Given the description of an element on the screen output the (x, y) to click on. 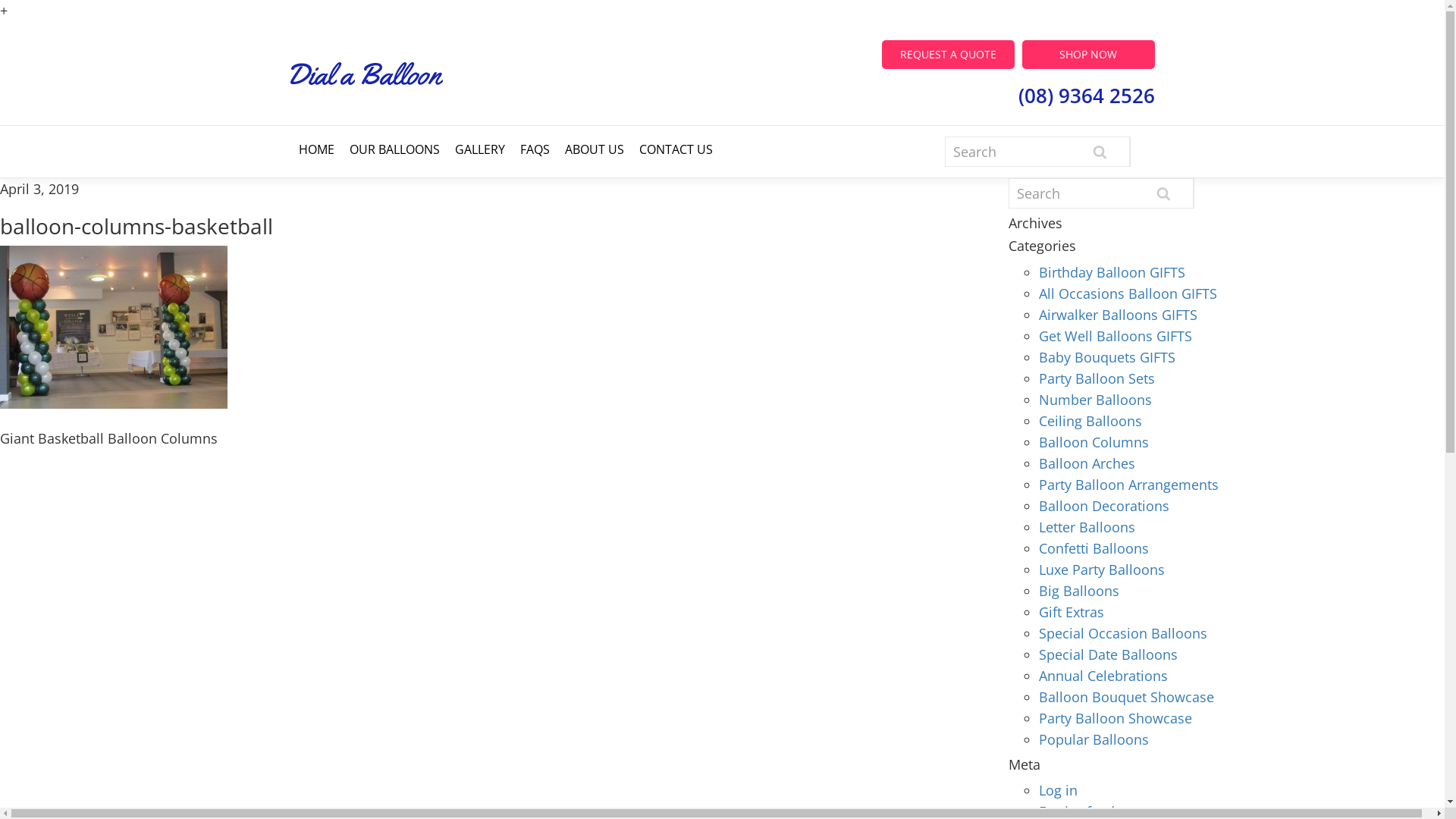
Airwalker Balloons GIFTS Element type: text (1117, 314)
Special Occasion Balloons Element type: text (1122, 633)
Ceiling Balloons Element type: text (1090, 420)
GALLERY Element type: text (479, 149)
SHOP NOW Element type: text (1088, 54)
REQUEST A QUOTE Element type: text (947, 50)
FAQS Element type: text (534, 149)
Log in Element type: text (1057, 790)
SHOP NOW Element type: text (1088, 50)
CONTACT US Element type: text (674, 149)
Annual Celebrations Element type: text (1102, 675)
Gift Extras Element type: text (1071, 611)
Special Date Balloons Element type: text (1107, 654)
Balloon Columns Element type: text (1093, 442)
Balloon Bouquet Showcase Element type: text (1126, 696)
Baby Bouquets GIFTS Element type: text (1106, 357)
Search Element type: text (1163, 193)
OUR BALLOONS Element type: text (393, 149)
Number Balloons Element type: text (1094, 399)
Get Well Balloons GIFTS Element type: text (1115, 335)
Search Element type: text (1099, 151)
REQUEST A QUOTE Element type: text (947, 54)
Party Balloon Showcase Element type: text (1115, 718)
Balloon Arches Element type: text (1086, 463)
Big Balloons Element type: text (1078, 590)
HOME Element type: text (316, 149)
Luxe Party Balloons Element type: text (1101, 569)
Balloon Decorations Element type: text (1103, 505)
Letter Balloons Element type: text (1086, 526)
Confetti Balloons Element type: text (1093, 548)
Birthday Balloon GIFTS Element type: text (1111, 272)
ABOUT US Element type: text (593, 149)
Popular Balloons Element type: text (1093, 739)
Party Balloon Arrangements Element type: text (1128, 484)
All Occasions Balloon GIFTS Element type: text (1127, 293)
Party Balloon Sets Element type: text (1096, 378)
